Given the description of an element on the screen output the (x, y) to click on. 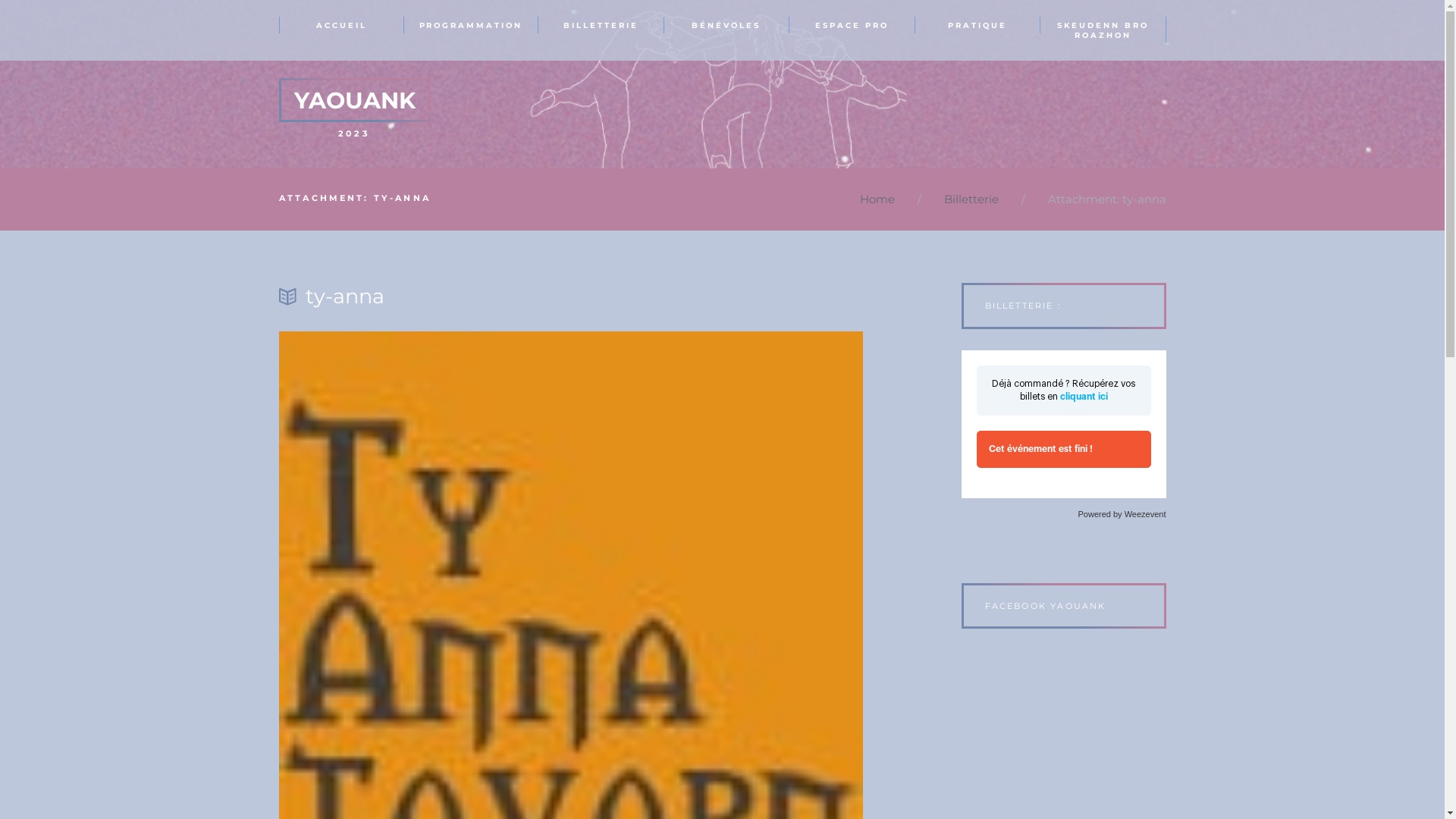
YAOUANK

2023 Element type: text (354, 109)
PRATIQUE Element type: text (977, 24)
Powered by Weezevent Element type: text (1122, 514)
PROGRAMMATION Element type: text (471, 24)
Billetterie Element type: text (970, 199)
Home Element type: text (876, 199)
ACCUEIL Element type: text (341, 24)
SKEUDENN BRO ROAZHON Element type: text (1103, 29)
ESPACE PRO Element type: text (852, 24)
BILLETTERIE Element type: text (601, 24)
